Given the description of an element on the screen output the (x, y) to click on. 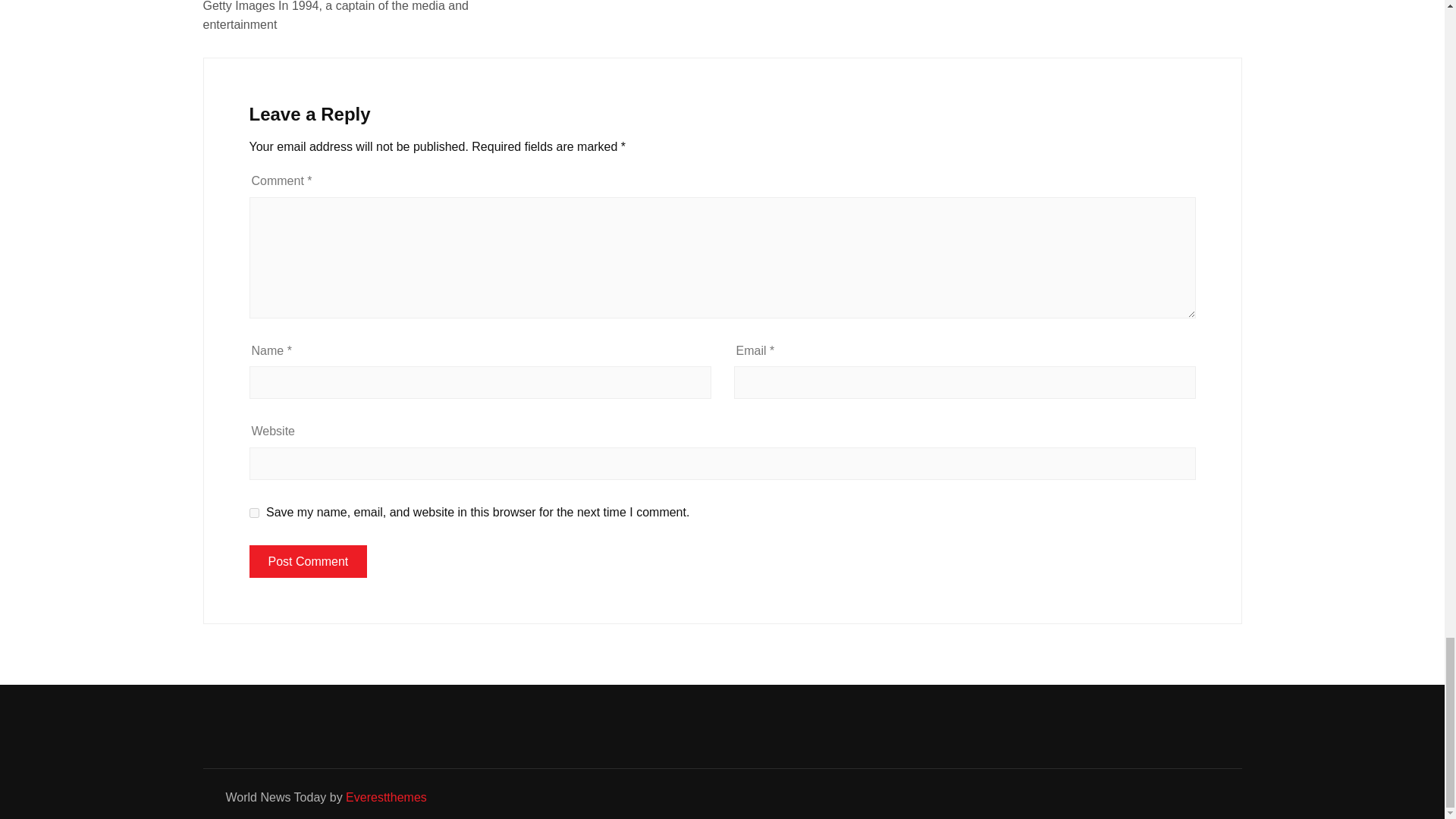
Post Comment (307, 561)
yes (253, 512)
